Given the description of an element on the screen output the (x, y) to click on. 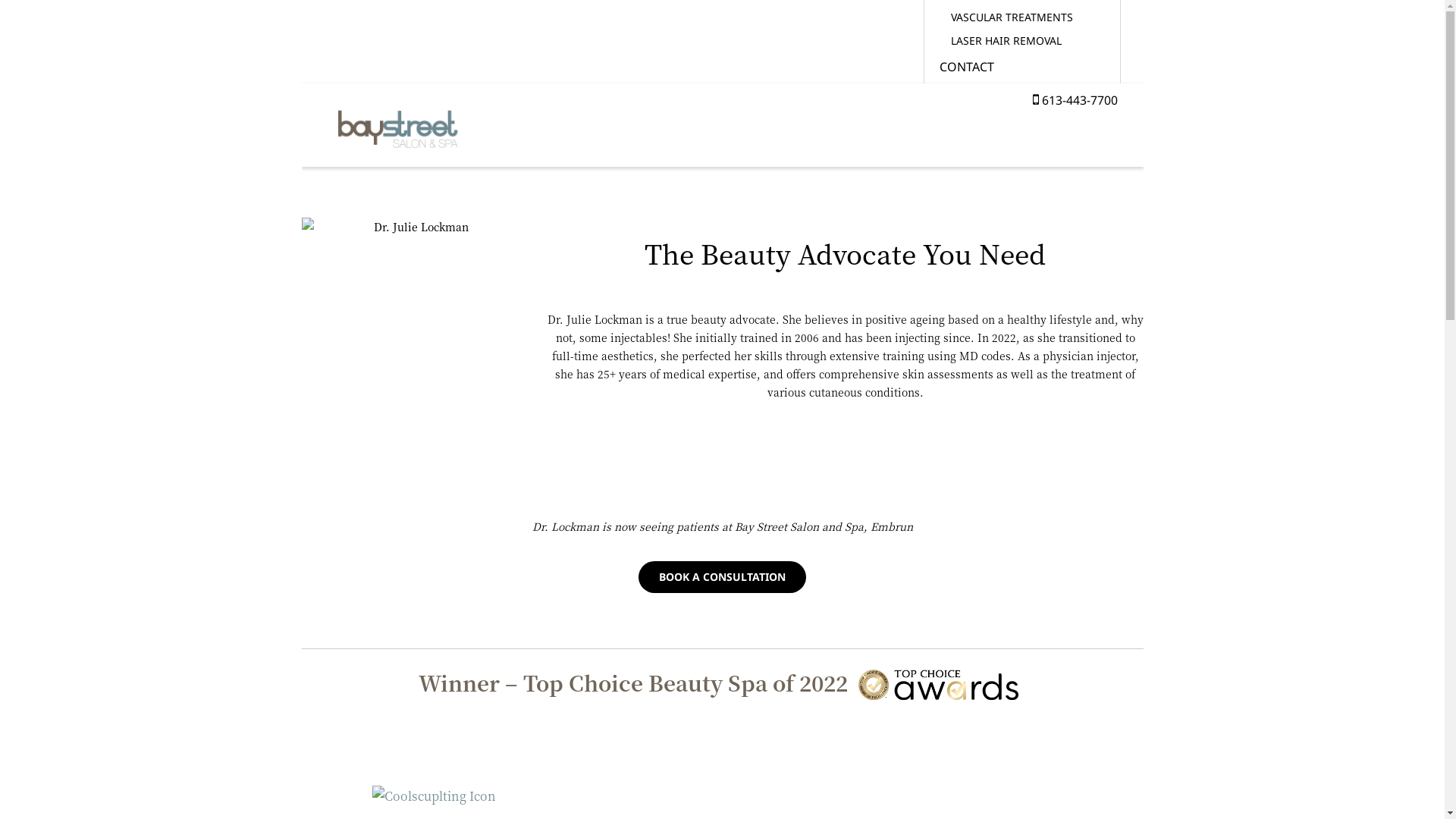
HAIR Element type: text (1183, 139)
LASER Element type: text (1228, 139)
BOOK A CONSULTATION Element type: text (722, 577)
INSTAGRAM Element type: text (945, 149)
FACEBOOK Element type: text (971, 149)
GIFT CARDS Element type: text (1022, 120)
Bay Street Salon and Spa Element type: text (396, 124)
SKIP TO CONTENT Element type: text (300, 166)
SHOP Element type: text (1022, 93)
LASER HAIR REMOVAL Element type: text (1022, 40)
CONTACT Element type: text (1284, 139)
CONTACT Element type: text (1022, 66)
Menu Element type: text (1143, 143)
VASCULAR TREATMENTS Element type: text (1022, 17)
SPA Element type: text (1145, 139)
SHOP Element type: text (1338, 139)
